Given the description of an element on the screen output the (x, y) to click on. 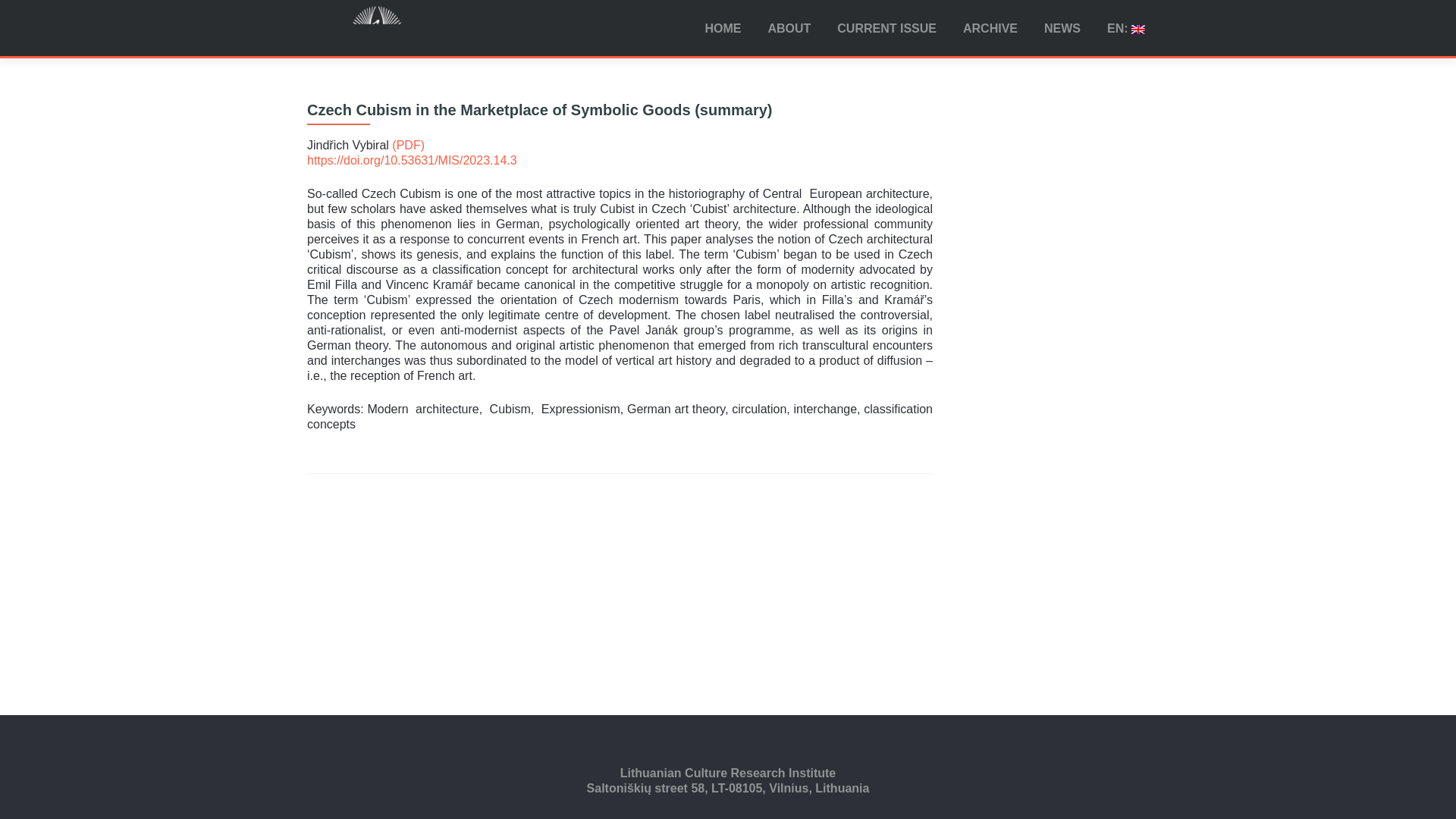
EN (1126, 28)
ABOUT (788, 28)
HOME (722, 28)
ARCHIVE (990, 28)
NEWS (1062, 28)
EN:  (1126, 28)
CURRENT ISSUE (886, 28)
Search (937, 77)
